Given the description of an element on the screen output the (x, y) to click on. 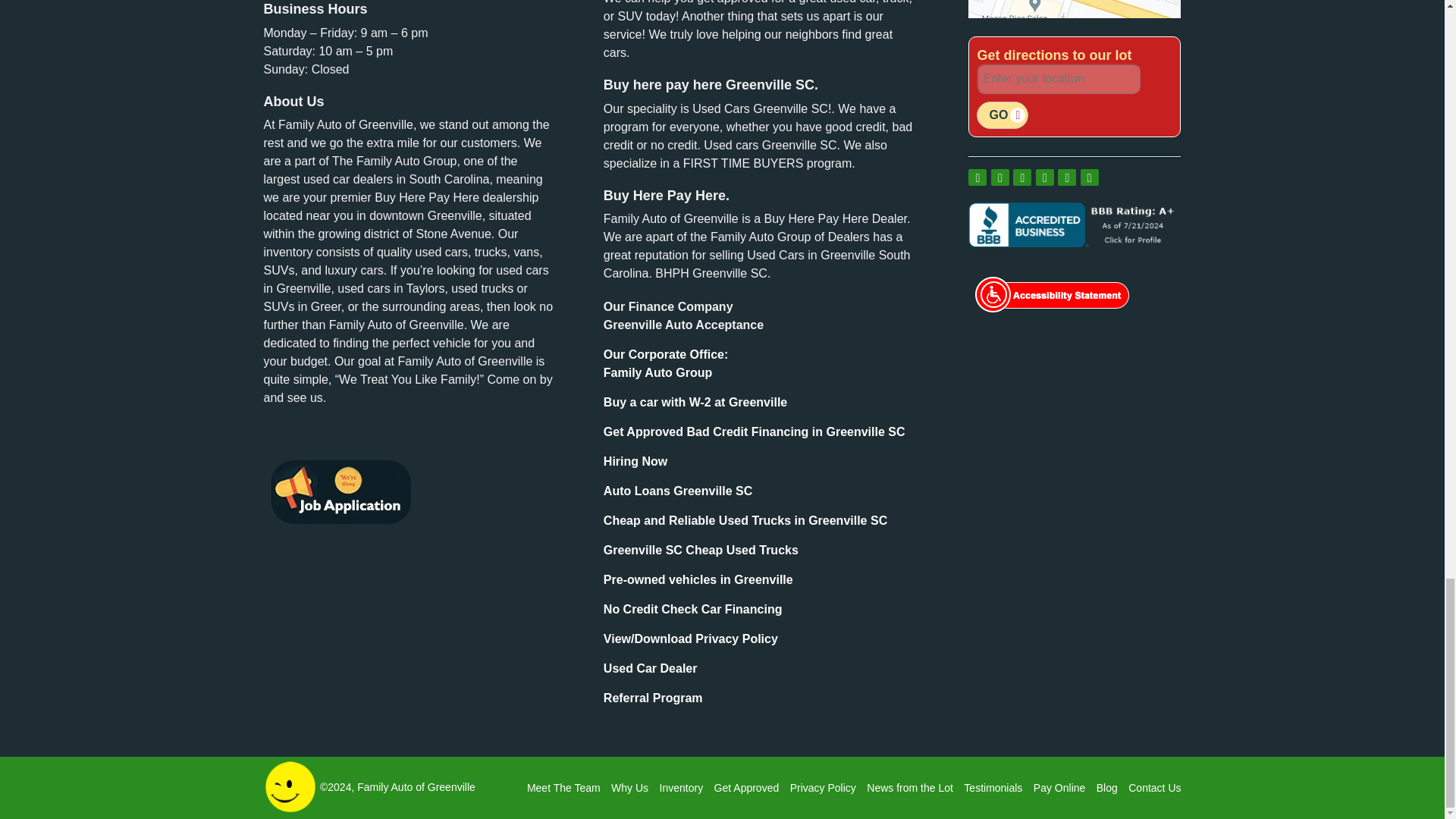
Hiring Now (635, 461)
Get Approved Bad Credit Financing in Greenville SC (754, 431)
GO (1001, 114)
Used Car Dealer (650, 667)
Auto Loans Greenville SC (678, 490)
Greenville SC Cheap Used Trucks (700, 549)
Cheap and Reliable Used Trucks in Greenville SC (745, 520)
No Credit Check Car Financing (666, 363)
Referral Program (693, 608)
Pre-owned vehicles in Greenville (653, 697)
Buy a car with W-2 at Greenville (698, 579)
